Given the description of an element on the screen output the (x, y) to click on. 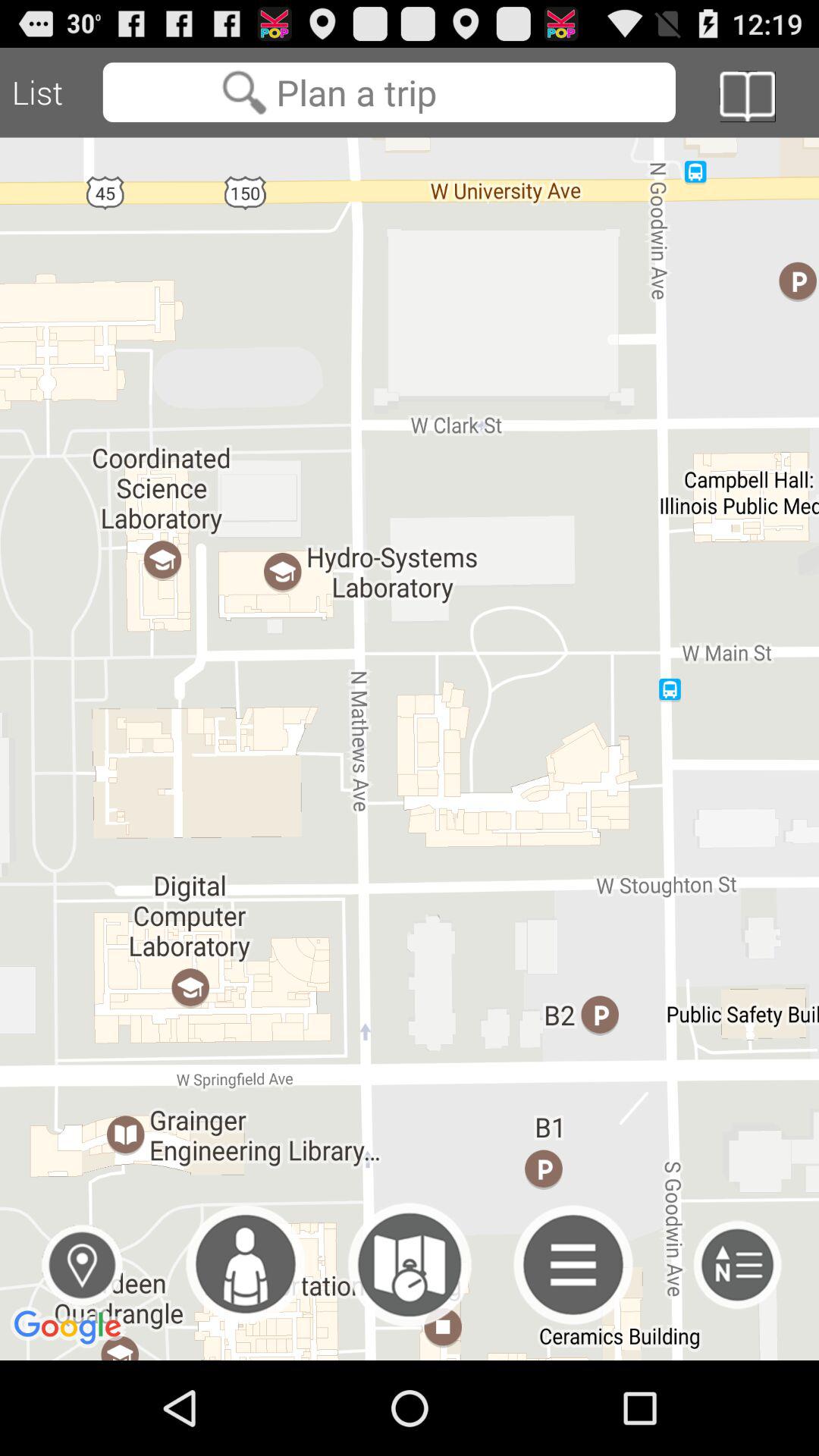
select the icon at the top right corner (747, 96)
